Given the description of an element on the screen output the (x, y) to click on. 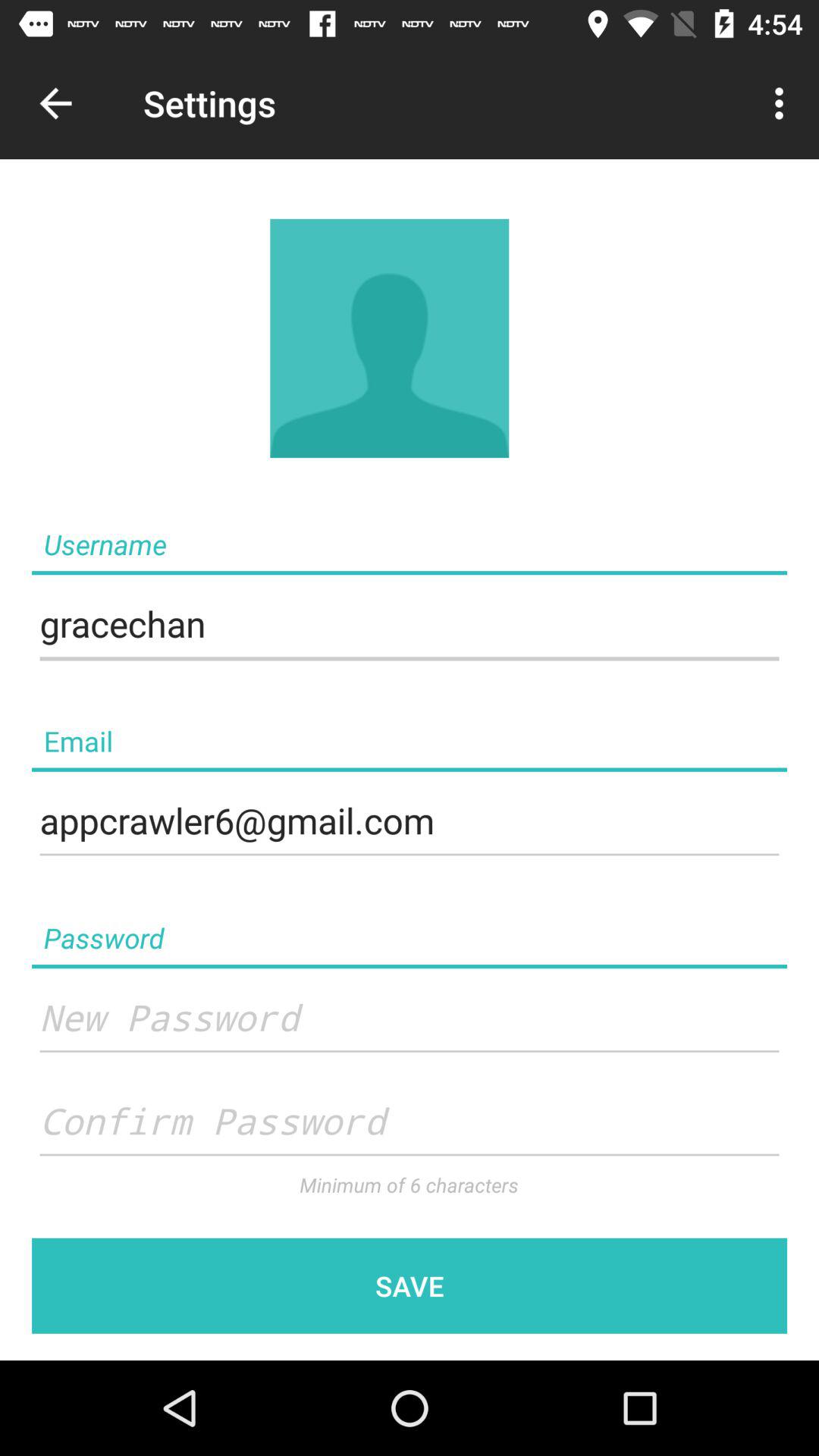
confirm your password (409, 1121)
